Given the description of an element on the screen output the (x, y) to click on. 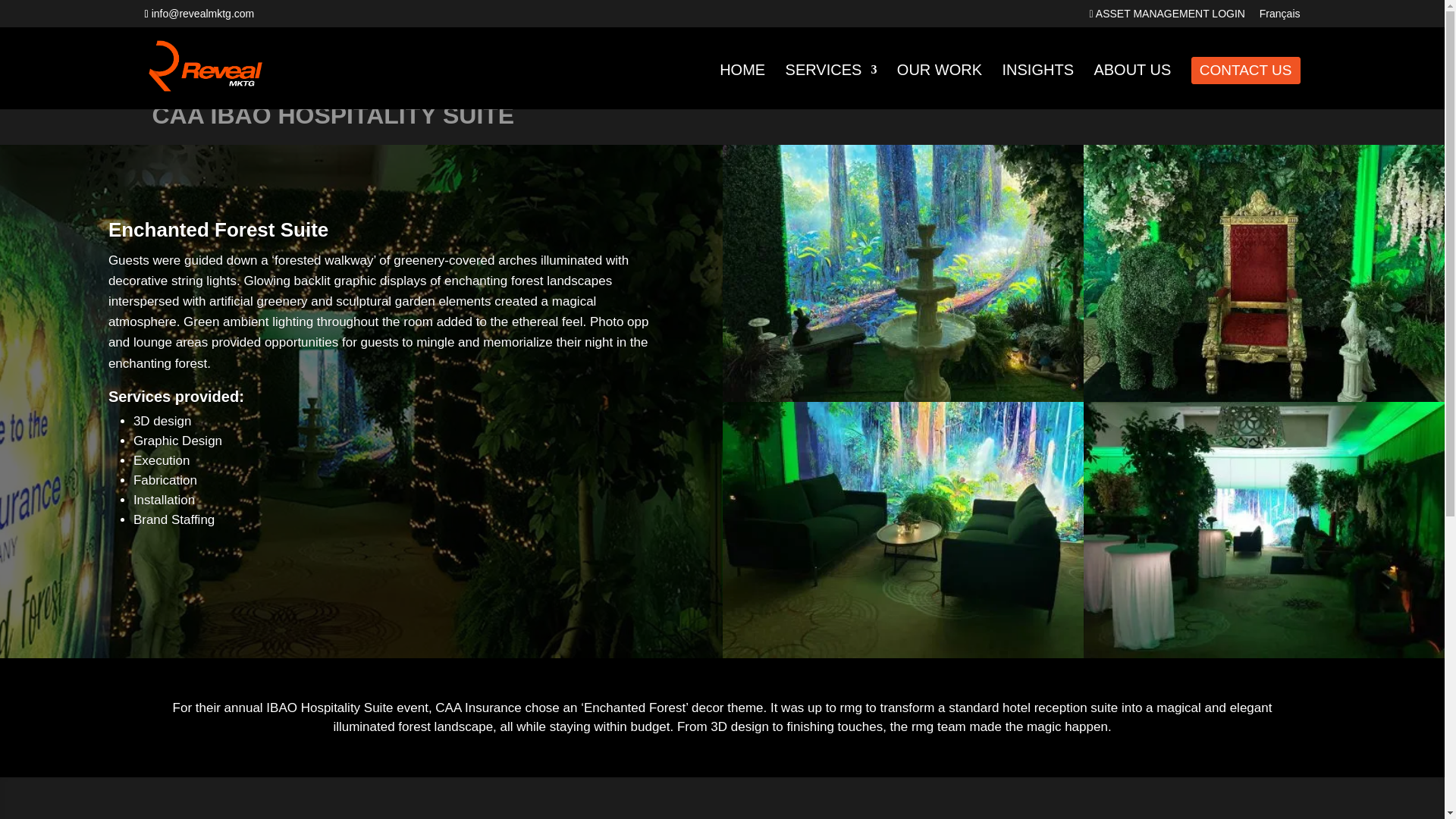
HOME (742, 86)
CONTACT US (1246, 70)
SERVICES (831, 86)
INSIGHTS (1038, 86)
ABOUT US (1131, 86)
OUR WORK (938, 86)
